Given the description of an element on the screen output the (x, y) to click on. 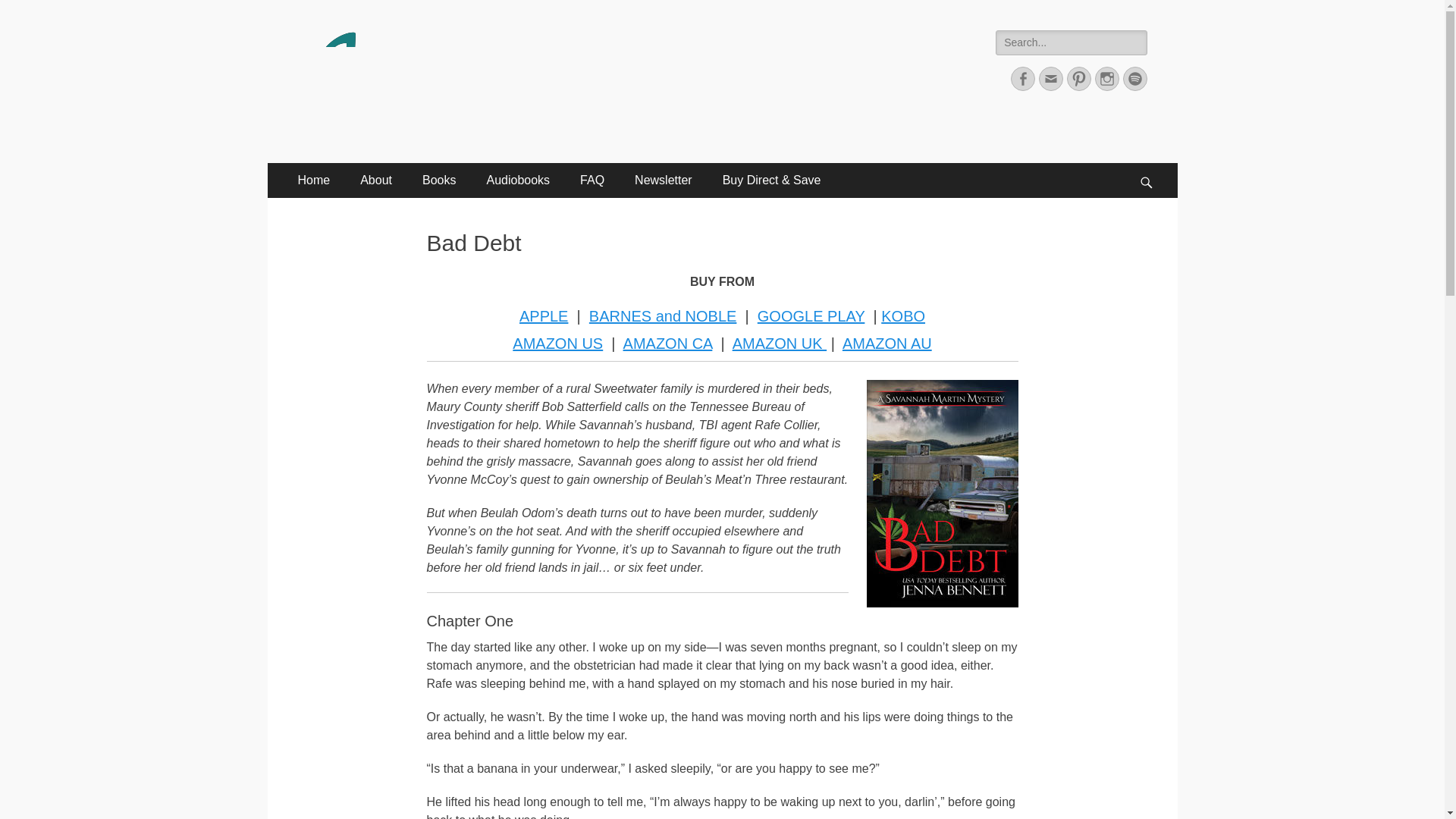
FAQ (592, 180)
Books (438, 180)
About (376, 180)
BARNES and NOBLE (662, 315)
AMAZON US (557, 343)
Instagram (1106, 78)
Facebook (1021, 78)
Home (313, 180)
Audiobooks (517, 180)
KOBO (902, 315)
AMAZON UK (779, 343)
Instagram (1106, 78)
New York Times bestselling author Jenna Bennett (638, 48)
APPLE (543, 315)
